Given the description of an element on the screen output the (x, y) to click on. 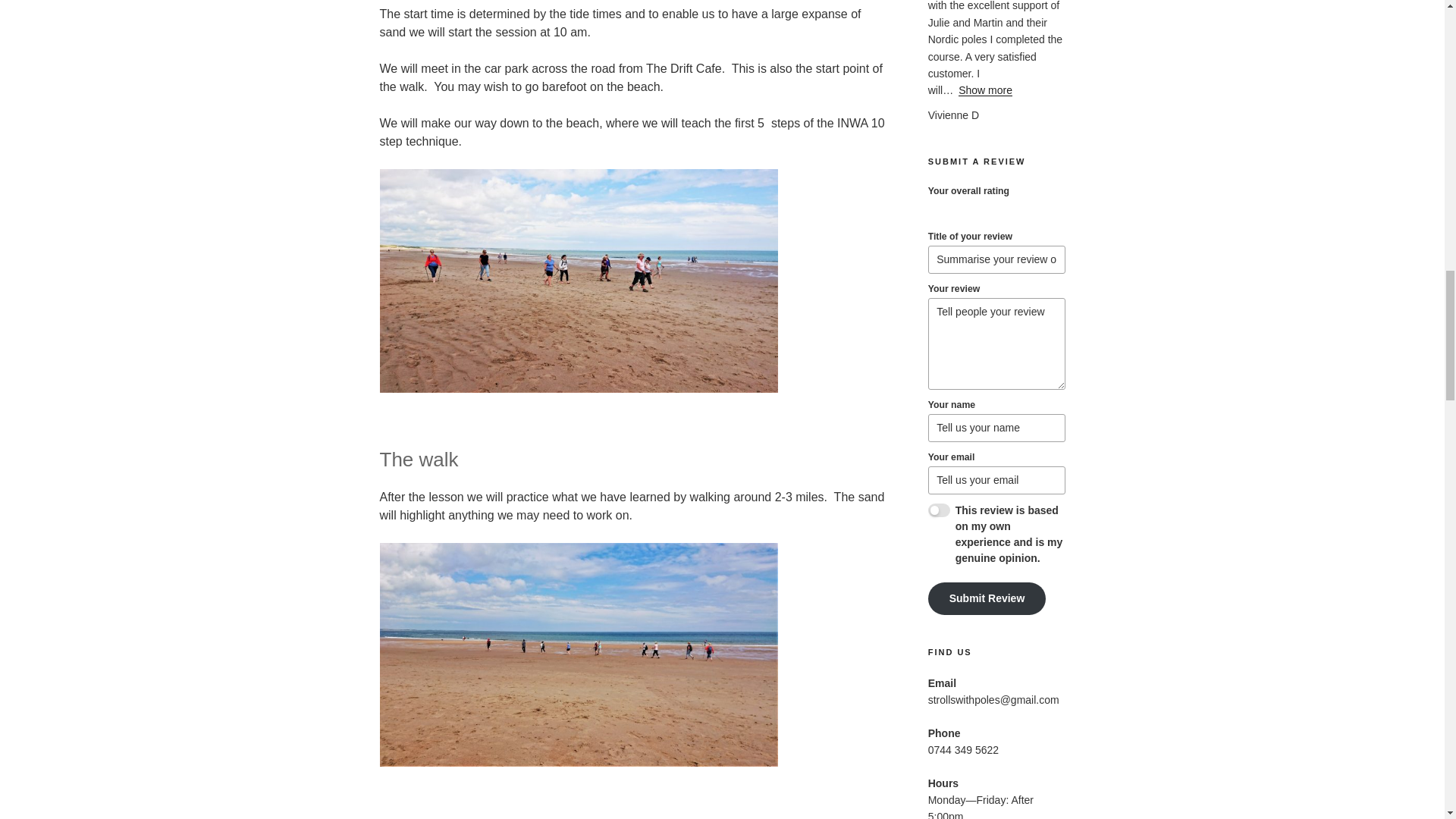
1 (939, 509)
